Given the description of an element on the screen output the (x, y) to click on. 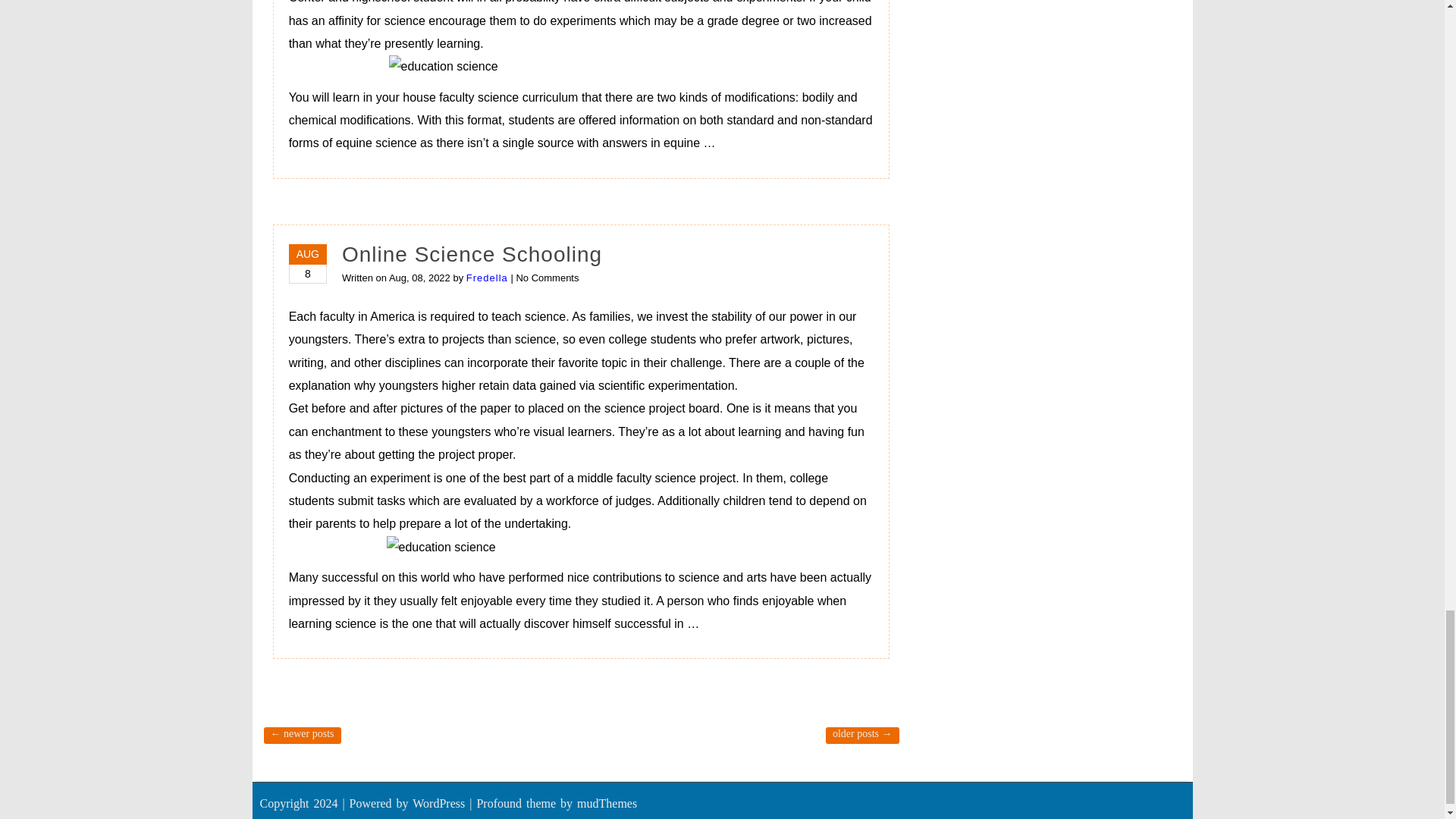
Posts by Fredella (486, 277)
Fredella (486, 277)
Permalink to Online Science Schooling (472, 254)
Online Science Schooling (472, 254)
